Given the description of an element on the screen output the (x, y) to click on. 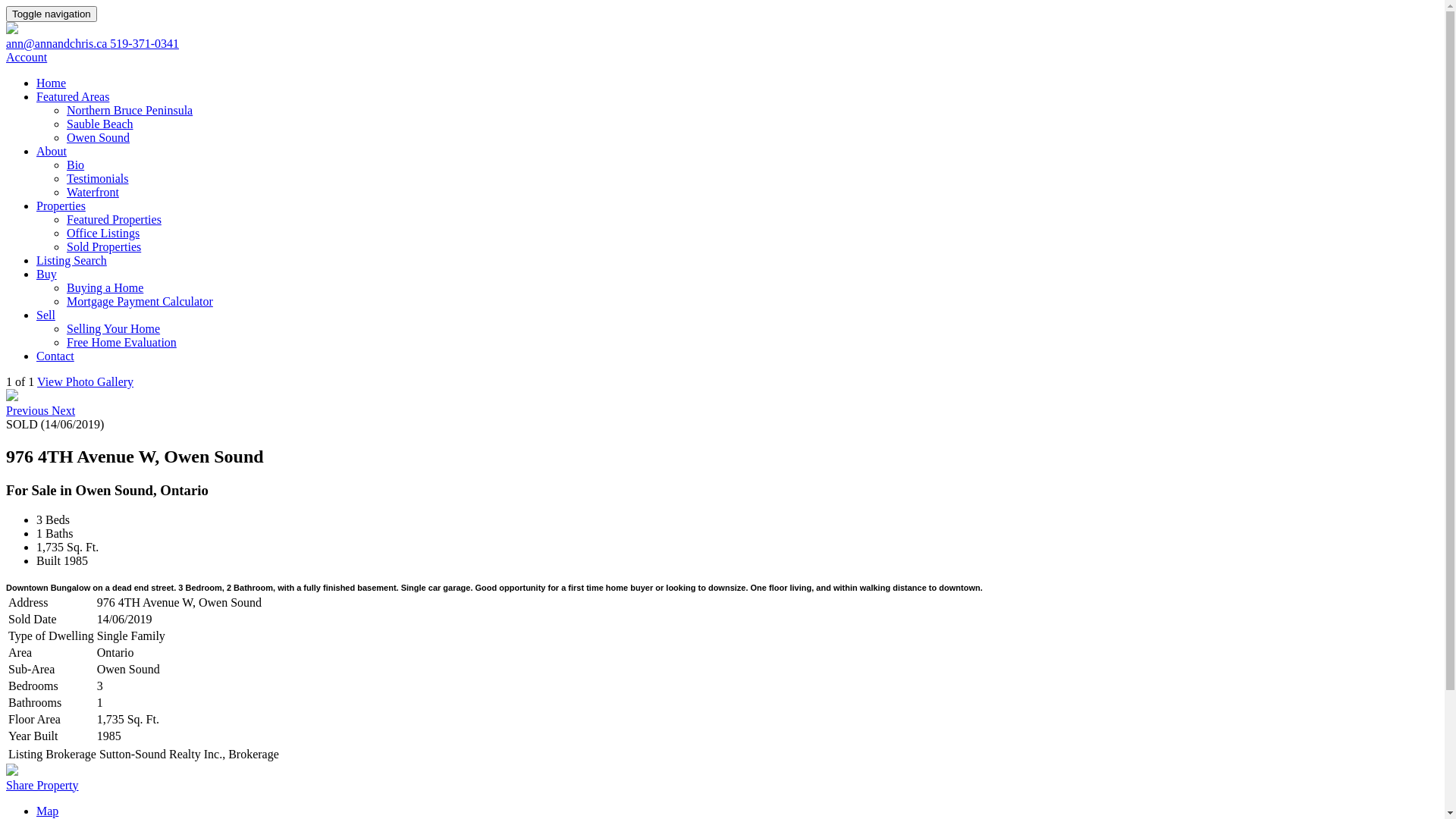
Properties Element type: text (60, 205)
Next Element type: text (63, 410)
Waterfront Element type: text (92, 191)
About Element type: text (51, 150)
Listing Search Element type: text (71, 260)
Sold Properties Element type: text (103, 246)
Bio Element type: text (75, 164)
Free Home Evaluation Element type: text (121, 341)
Previous Element type: text (28, 410)
Mortgage Payment Calculator Element type: text (139, 300)
Buy Element type: text (46, 273)
Northern Bruce Peninsula Element type: text (129, 109)
Home Element type: text (50, 82)
Map Element type: text (47, 810)
Buying a Home Element type: text (104, 287)
Featured Areas Element type: text (72, 96)
Contact Element type: text (55, 355)
Sell Element type: text (45, 314)
Testimonials Element type: text (97, 178)
Sauble Beach Element type: text (99, 123)
Owen Sound Element type: text (97, 137)
View Photo Gallery Element type: text (85, 381)
Office Listings Element type: text (102, 232)
Share Property Element type: text (42, 784)
519-371-0341 Element type: text (143, 43)
Toggle navigation Element type: text (51, 13)
ann@annandchris.ca Element type: text (57, 43)
Selling Your Home Element type: text (113, 328)
Account Element type: text (26, 56)
Featured Properties Element type: text (113, 219)
